Given the description of an element on the screen output the (x, y) to click on. 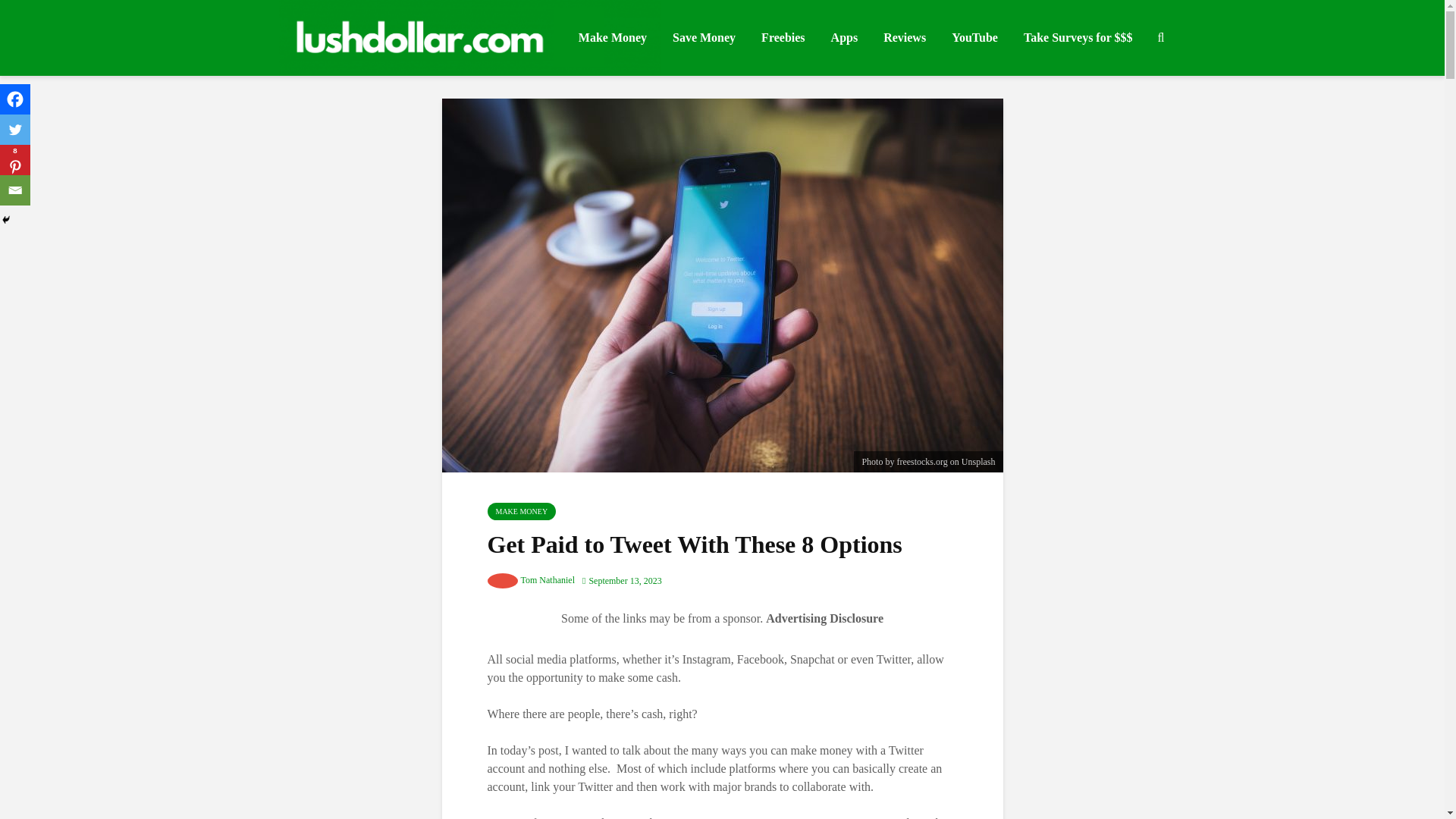
Reviews (904, 37)
Save Money (703, 37)
Email (15, 190)
Freebies (782, 37)
YouTube (974, 37)
Make Money (612, 37)
Apps (844, 37)
Pinterest (15, 159)
Hide (5, 219)
Twitter (15, 129)
Facebook (15, 99)
